Given the description of an element on the screen output the (x, y) to click on. 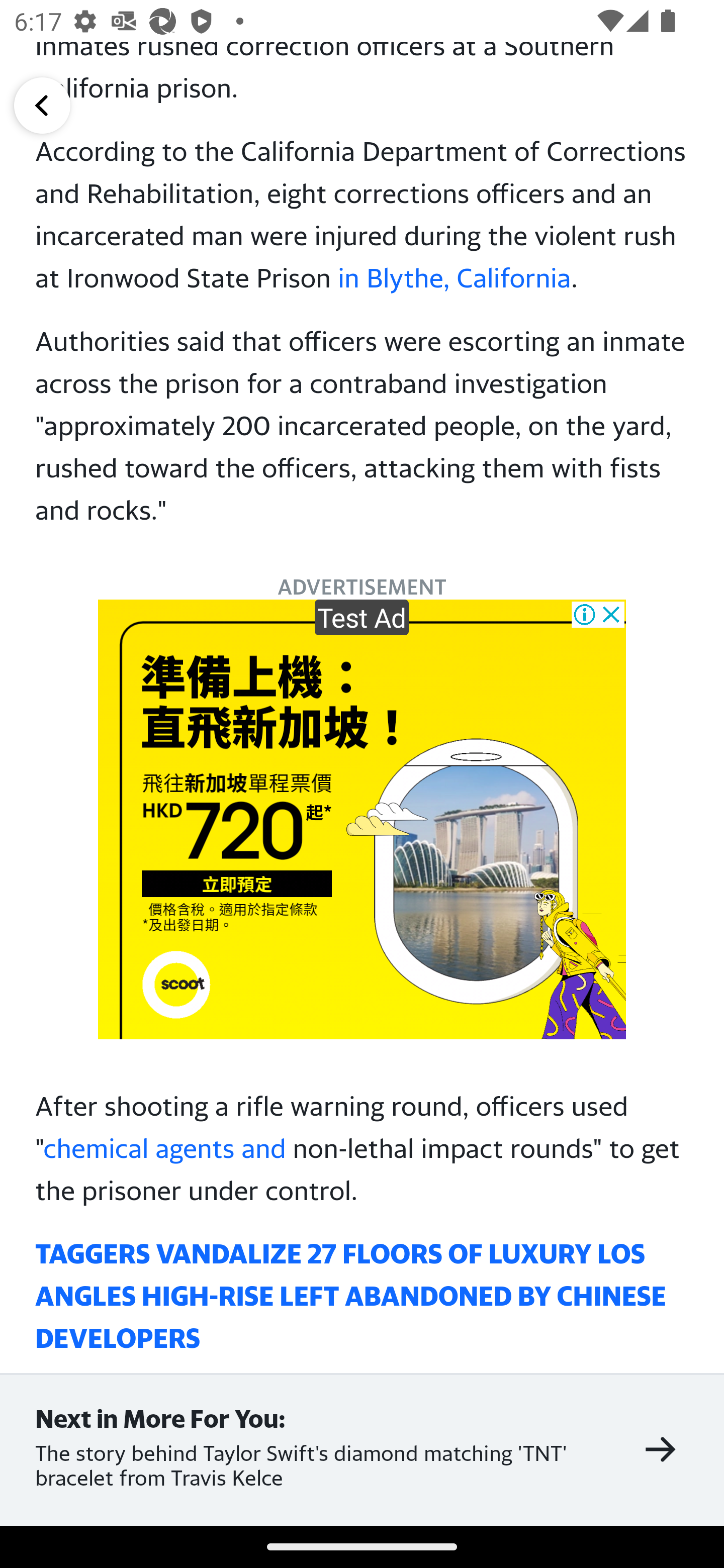
Back (41, 104)
in Blythe, California (453, 276)
chemical agents and (163, 1147)
